Given the description of an element on the screen output the (x, y) to click on. 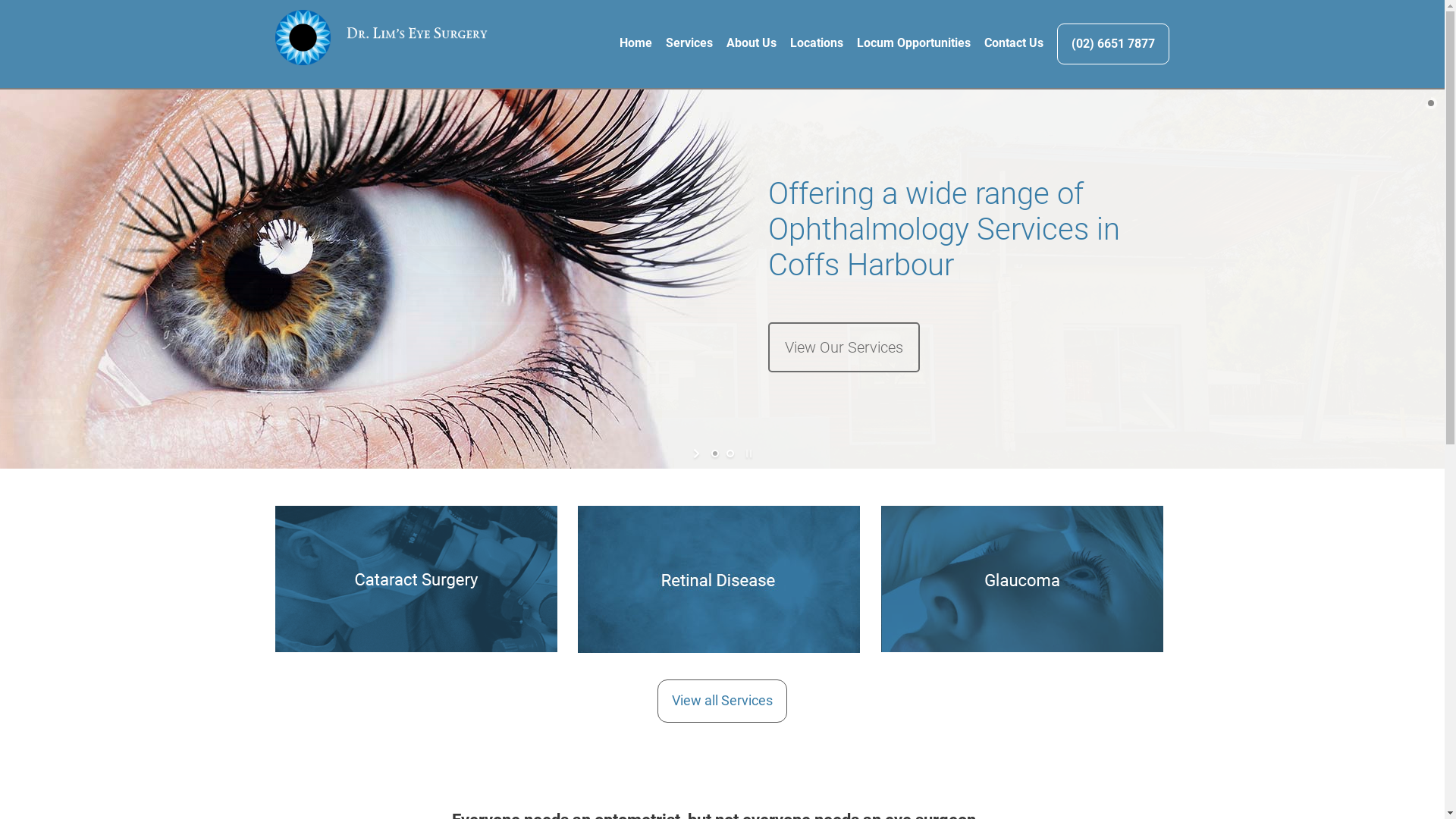
View Our Services Element type: text (843, 347)
Contact Us Element type: text (1006, 42)
Dr Lim's Eye Surgery Element type: hover (380, 37)
About Us Element type: text (744, 42)
View all Services Element type: text (722, 700)
Locations Element type: text (809, 42)
(02) 6651 7877 Element type: text (1113, 43)
Locum Opportunities Element type: text (906, 42)
Services Element type: text (682, 42)
Home Element type: text (628, 42)
